Given the description of an element on the screen output the (x, y) to click on. 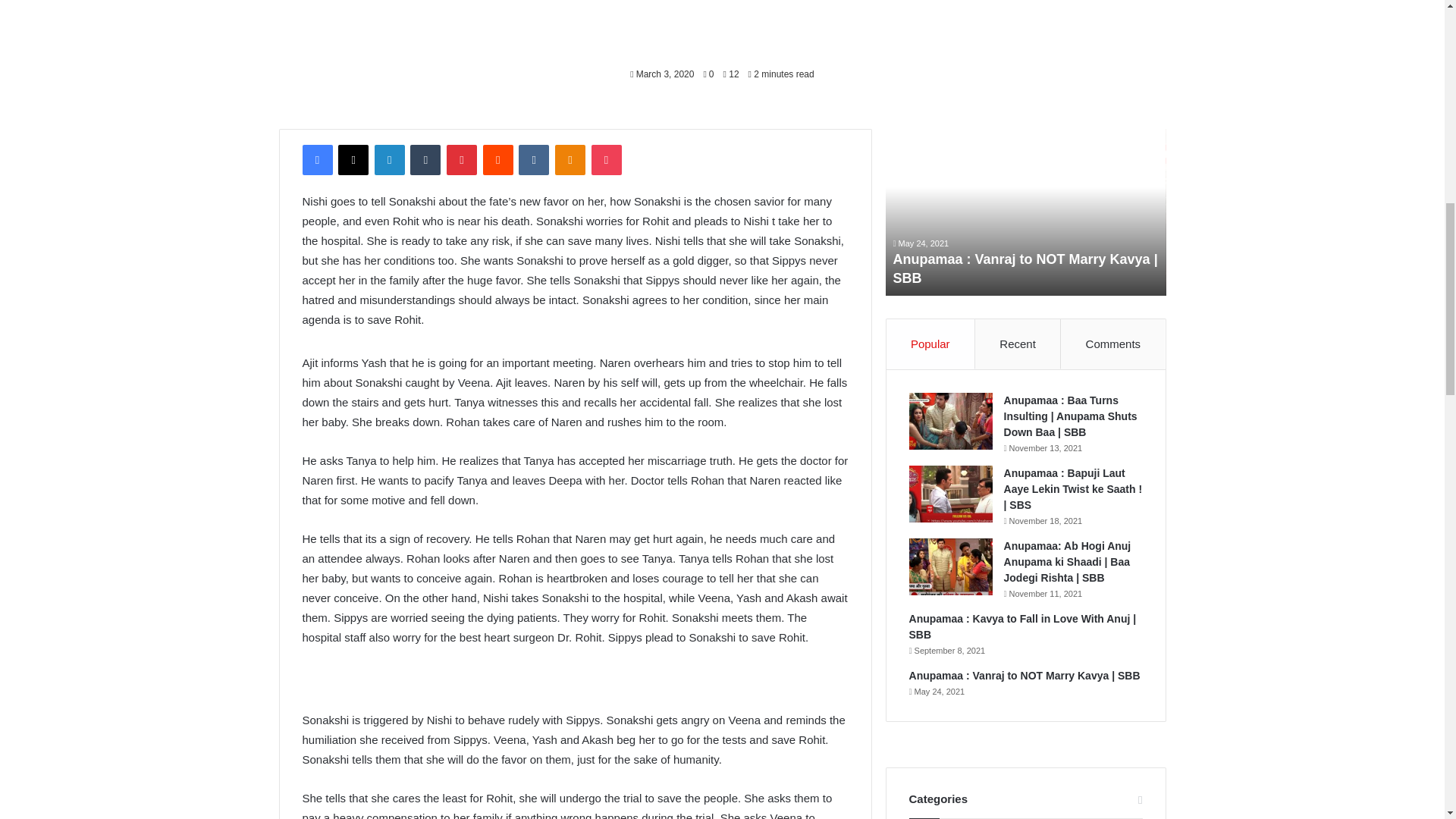
Facebook (316, 159)
Odnoklassniki (569, 159)
VKontakte (533, 159)
Reddit (498, 159)
X (352, 159)
Advertisement (722, 24)
X (352, 159)
Pocket (606, 159)
Pinterest (461, 159)
LinkedIn (389, 159)
Pinterest (461, 159)
Odnoklassniki (569, 159)
Reddit (498, 159)
Tumblr (425, 159)
Pocket (606, 159)
